Given the description of an element on the screen output the (x, y) to click on. 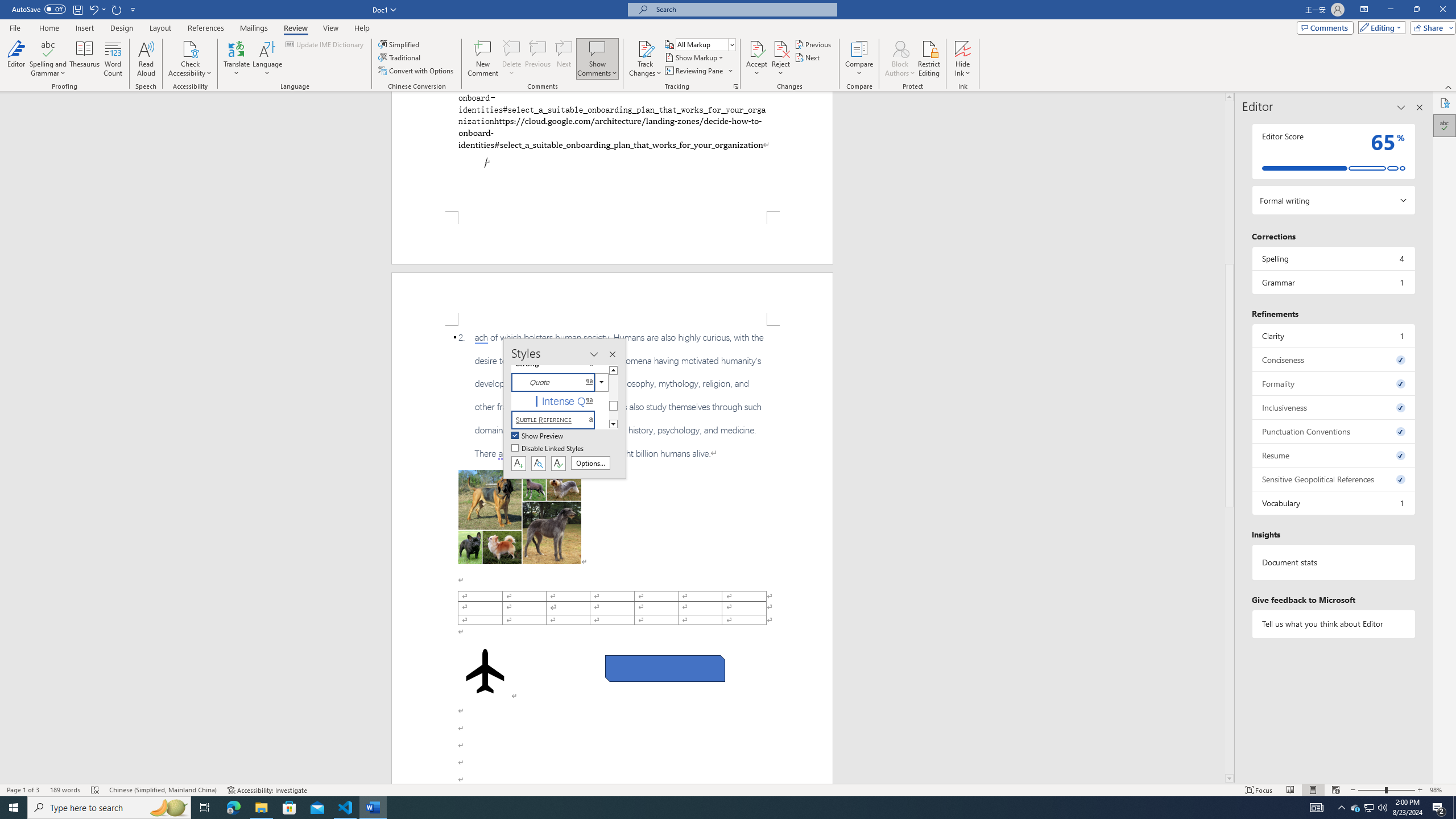
Show Preview (537, 436)
Formality, 0 issues. Press space or enter to review items. (1333, 383)
Language Chinese (Simplified, Mainland China) (162, 790)
Read Aloud (145, 58)
Reviewing Pane (698, 69)
Delete (511, 58)
Accept and Move to Next (756, 48)
Reject and Move to Next (780, 48)
